Given the description of an element on the screen output the (x, y) to click on. 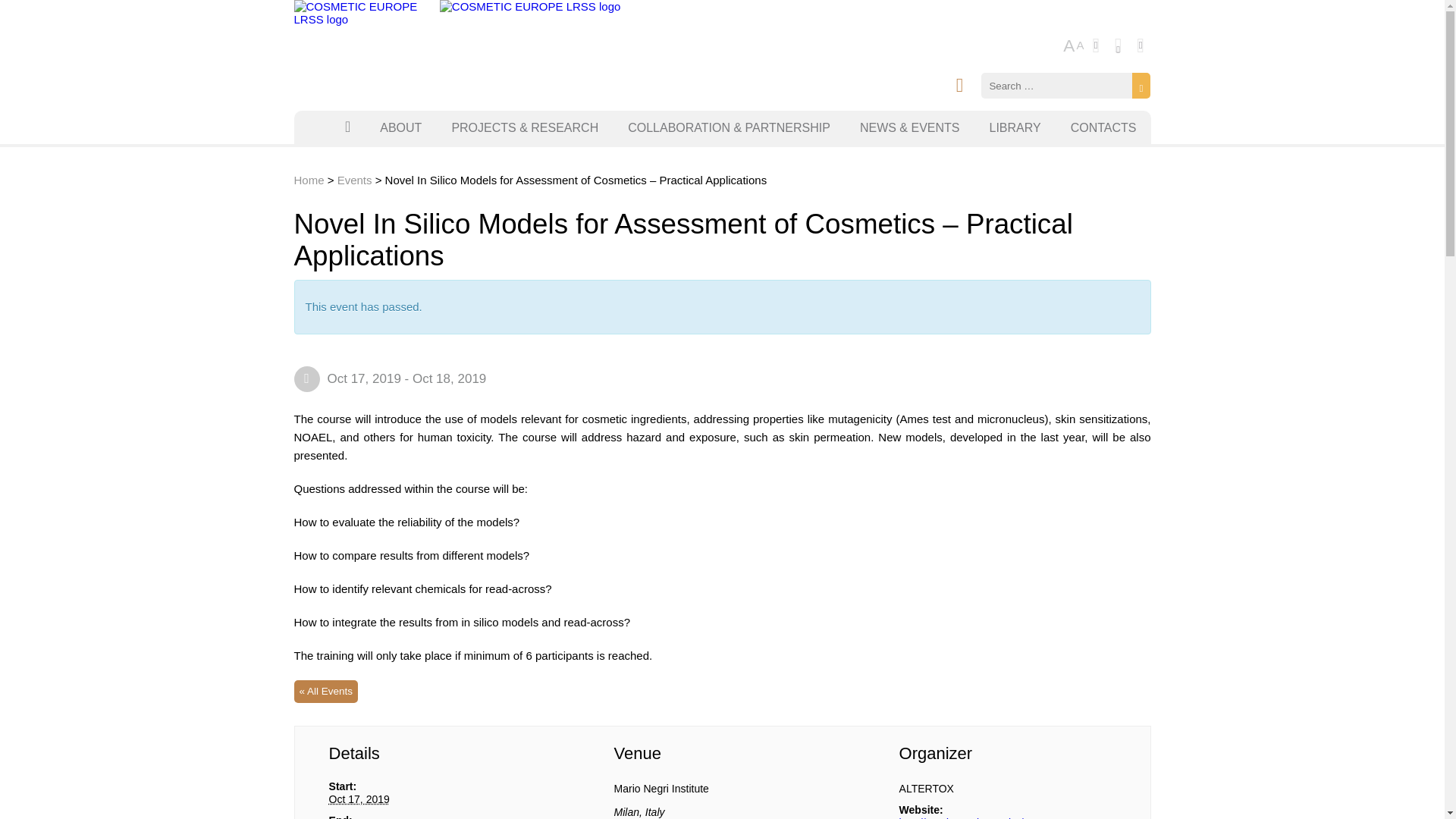
Zoom plus (1096, 46)
Home (309, 179)
Zoom minus (1118, 46)
WELCOME ON THE COSMETICS EUROPE LRSS WEBSITE (347, 124)
Zoom reset (1141, 46)
Events (354, 179)
ABOUT (400, 128)
CONTACTS (1104, 128)
COSMETIC EUROPE LRSS logo (358, 12)
Events (354, 179)
LIBRARY (1015, 128)
COSMETIC EUROPE LRSS logo (530, 6)
Home (309, 179)
2019-10-17 (359, 799)
